Given the description of an element on the screen output the (x, y) to click on. 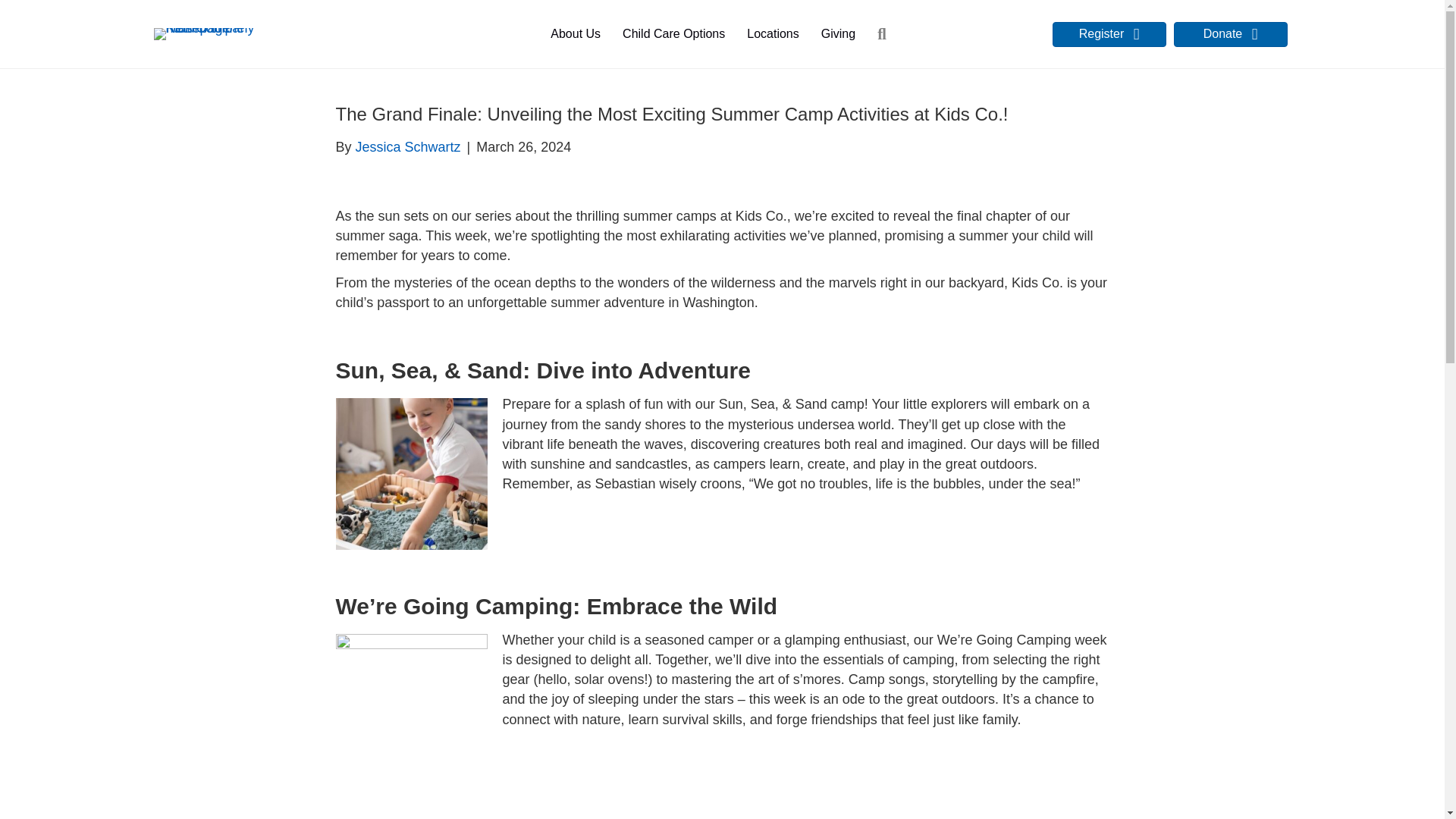
Locations (772, 33)
Giving (838, 33)
About Us (575, 33)
Register (1109, 34)
Child Care Options (673, 33)
Donate (1230, 34)
